Given the description of an element on the screen output the (x, y) to click on. 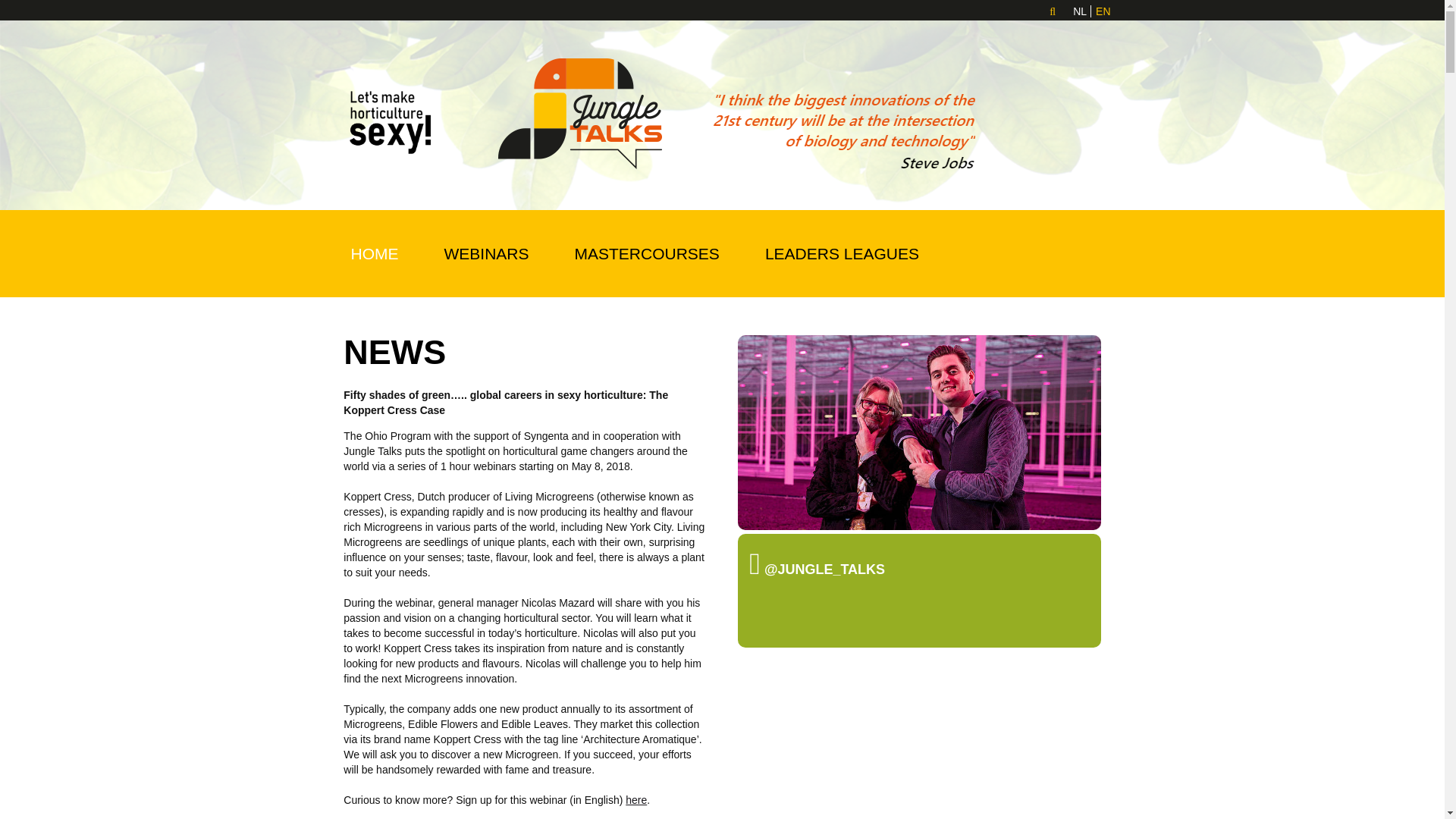
Home (373, 253)
Leaders Leagues (841, 253)
here (636, 799)
Webinars (486, 253)
NL (1081, 10)
Mastercourses (647, 253)
English (1104, 10)
HOME (373, 253)
WEBINARS (486, 253)
Nederlands (1081, 10)
